Given the description of an element on the screen output the (x, y) to click on. 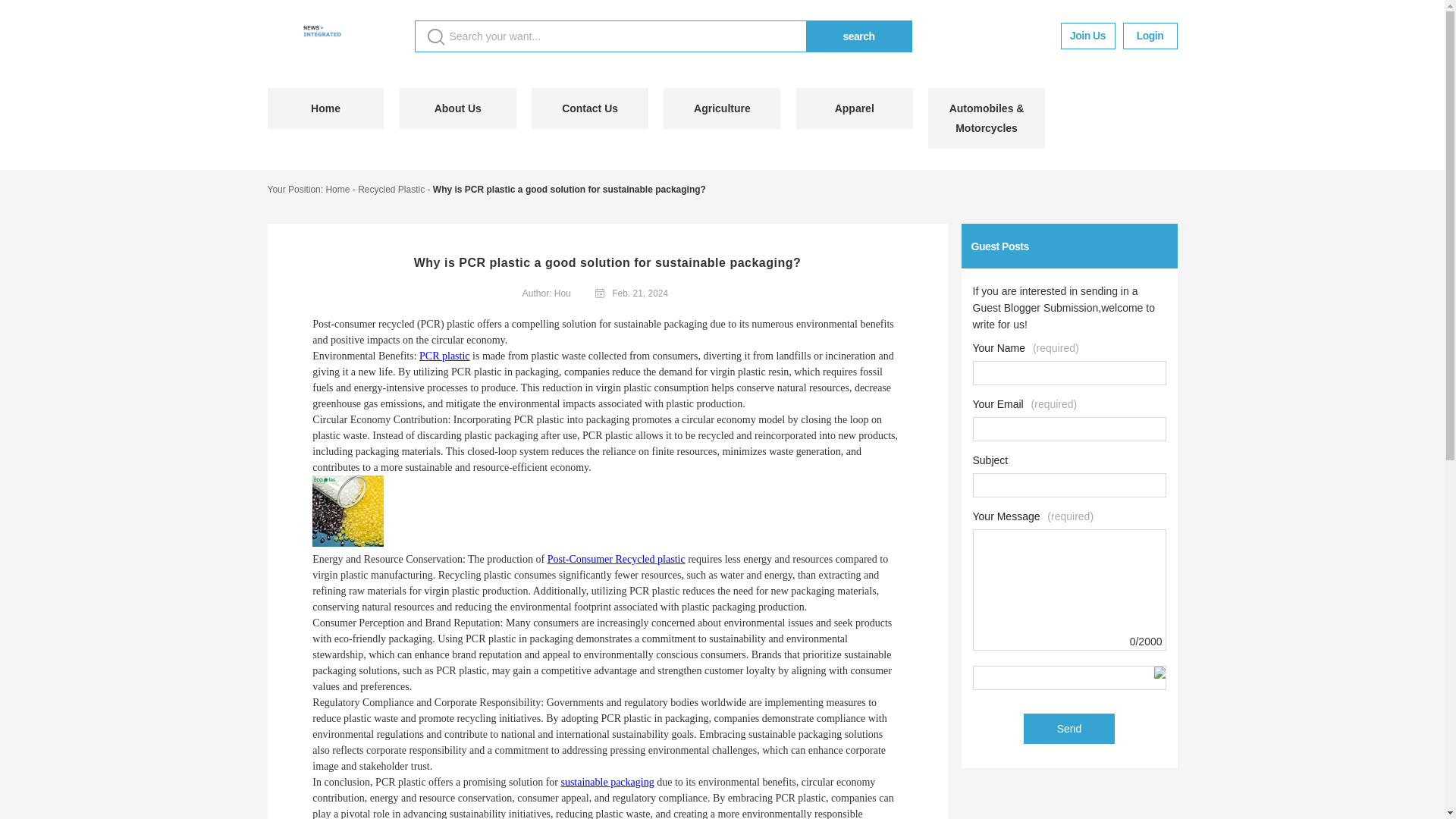
search (858, 36)
Send (1069, 728)
